Given the description of an element on the screen output the (x, y) to click on. 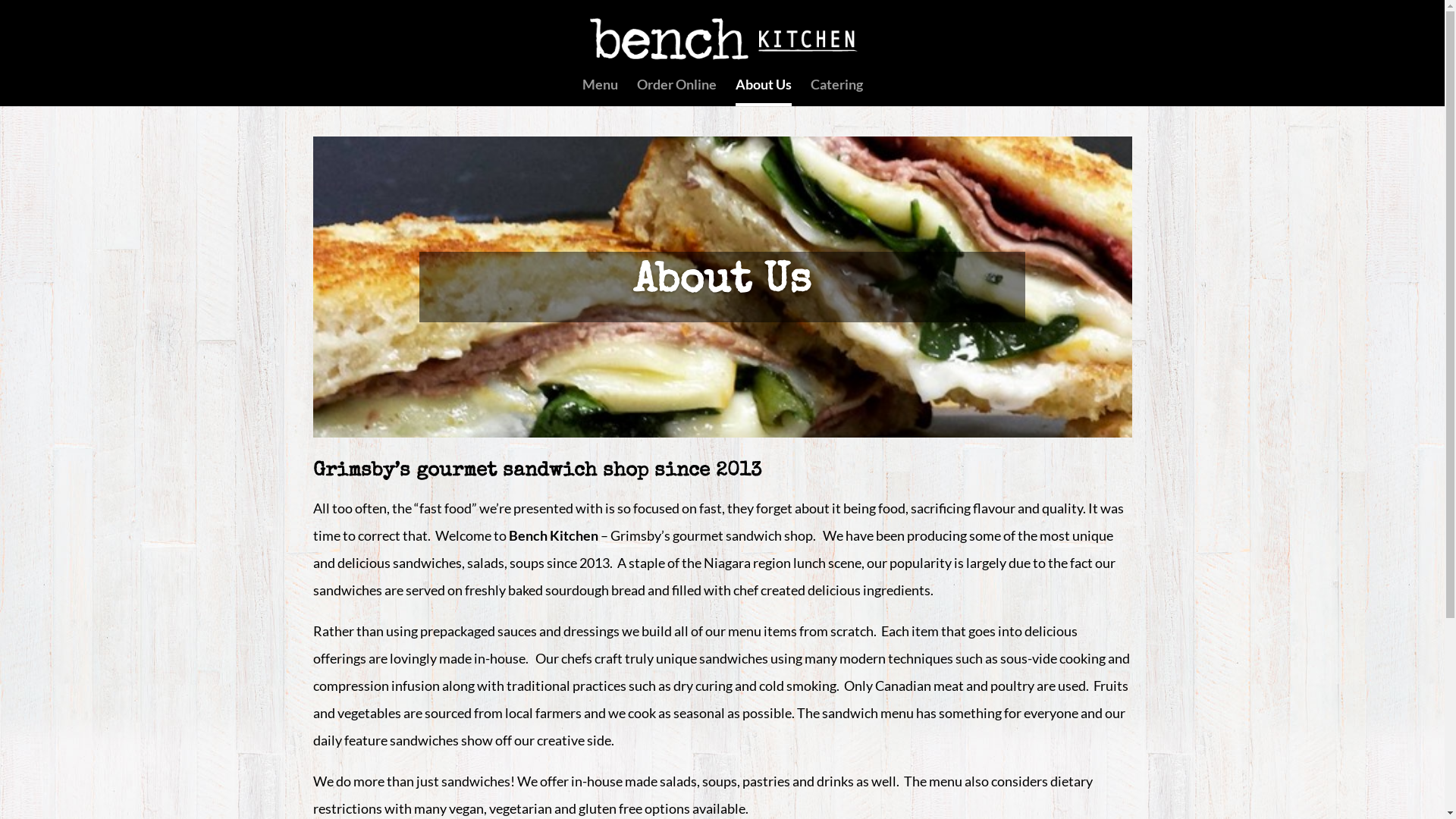
Order Online Element type: text (676, 90)
Menu Element type: text (600, 90)
Catering Element type: text (835, 90)
About Us Element type: text (763, 92)
